Given the description of an element on the screen output the (x, y) to click on. 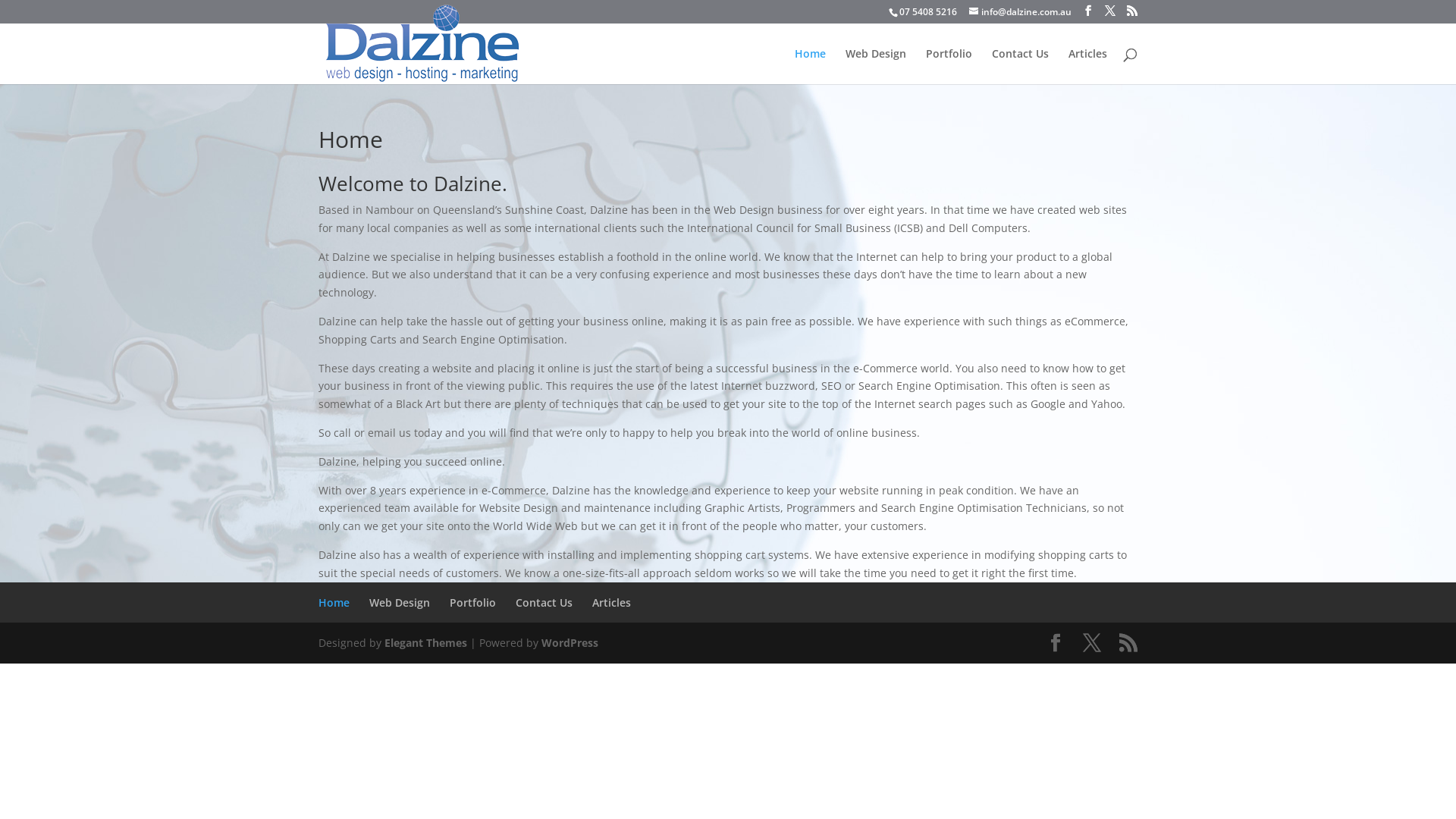
Portfolio Element type: text (948, 66)
Articles Element type: text (611, 602)
Web Design Element type: text (875, 66)
Contact Us Element type: text (1019, 66)
Web Design Element type: text (399, 602)
Home Element type: text (333, 602)
Elegant Themes Element type: text (425, 642)
WordPress Element type: text (569, 642)
Contact Us Element type: text (543, 602)
info@dalzine.com.au Element type: text (1020, 11)
Portfolio Element type: text (472, 602)
Home Element type: text (809, 66)
Articles Element type: text (1087, 66)
